Given the description of an element on the screen output the (x, y) to click on. 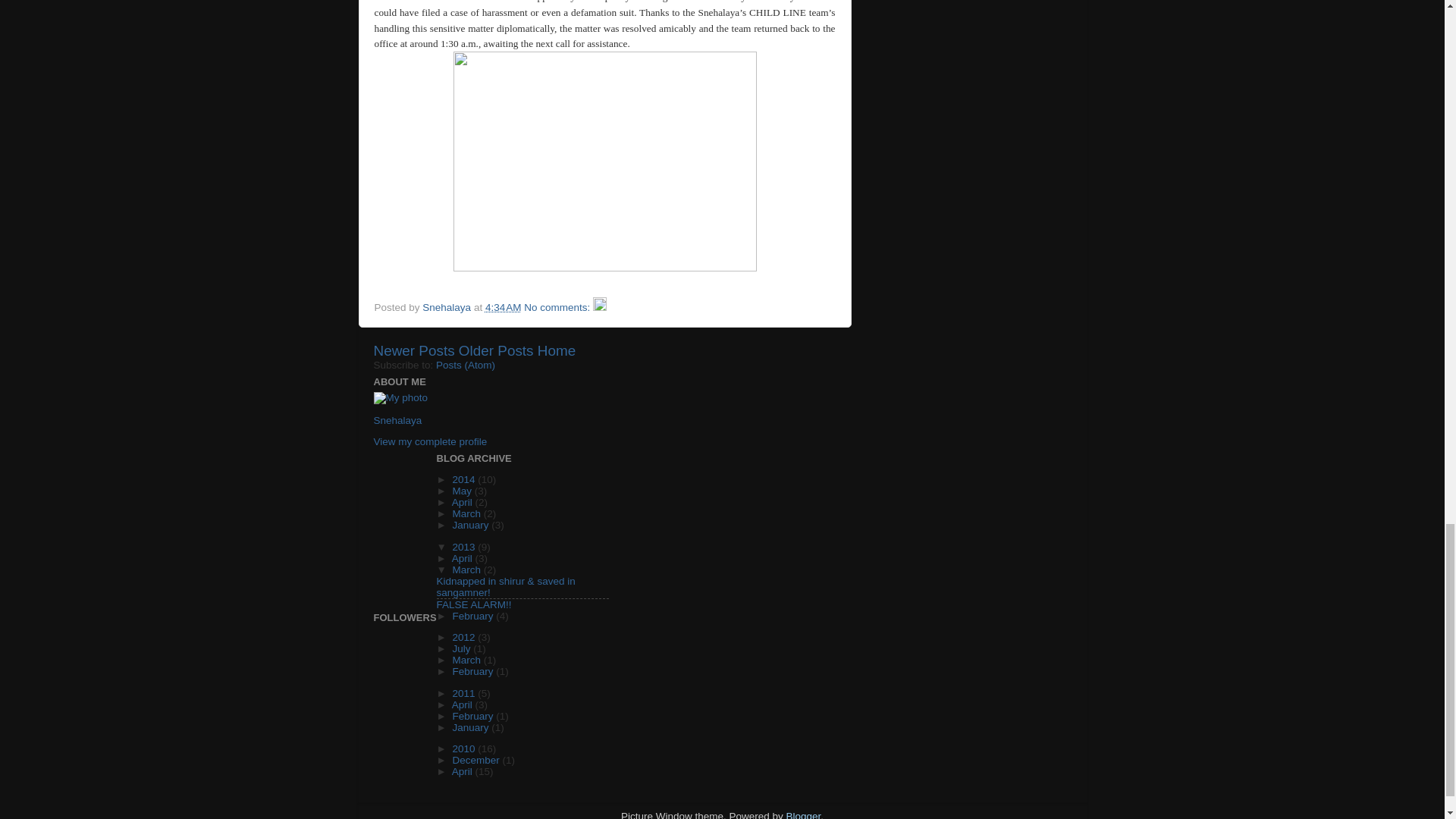
Newer Posts (413, 350)
View my complete profile (429, 441)
March (467, 513)
permanent link (502, 307)
March (467, 569)
FALSE ALARM!! (474, 604)
Edit Post (599, 307)
April (463, 558)
Newer Posts (413, 350)
Snehalaya (397, 419)
2013 (464, 546)
Older Posts (496, 350)
2014 (464, 479)
May (462, 490)
